Given the description of an element on the screen output the (x, y) to click on. 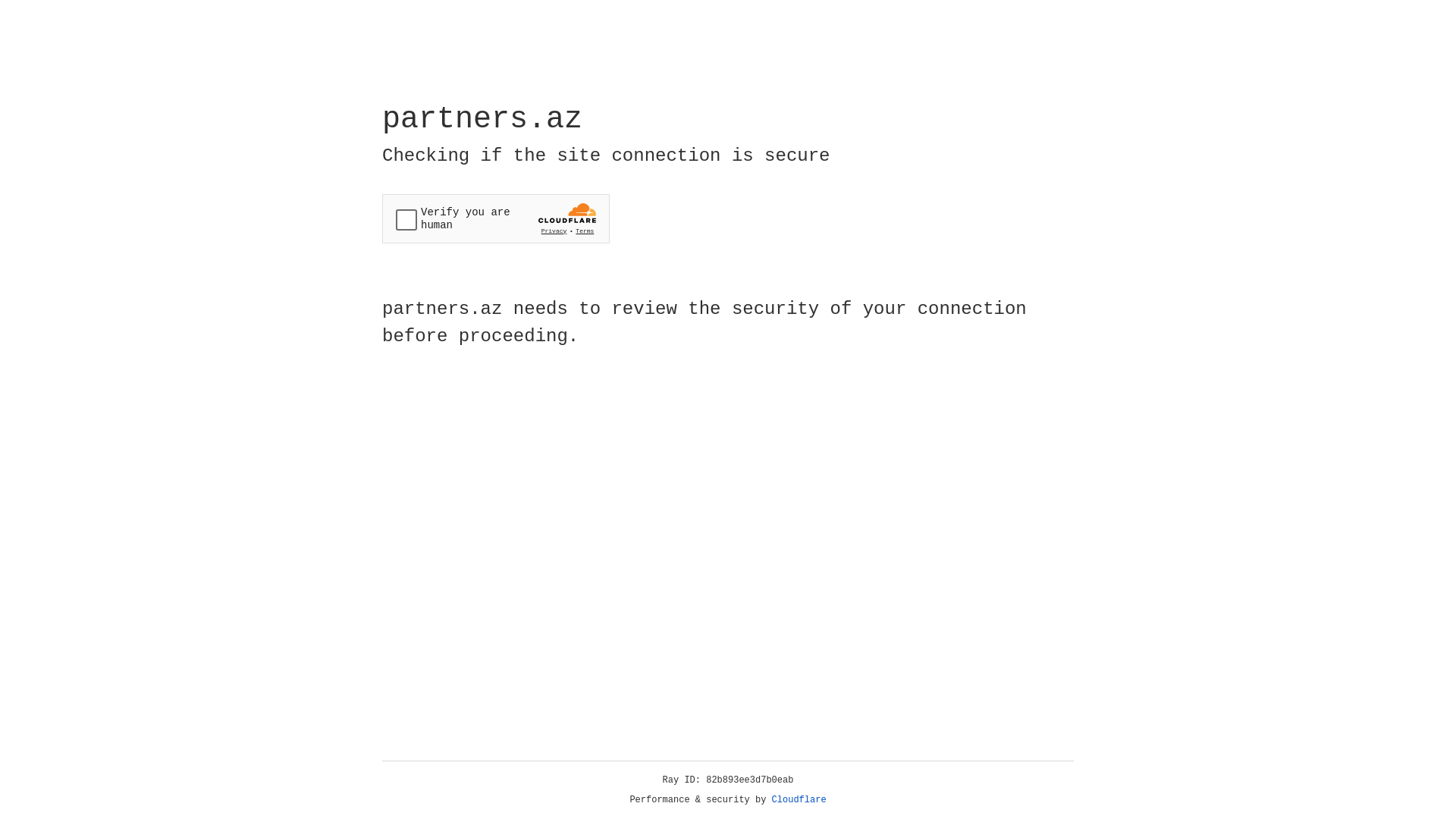
Widget containing a Cloudflare security challenge Element type: hover (495, 218)
Cloudflare Element type: text (798, 799)
